Given the description of an element on the screen output the (x, y) to click on. 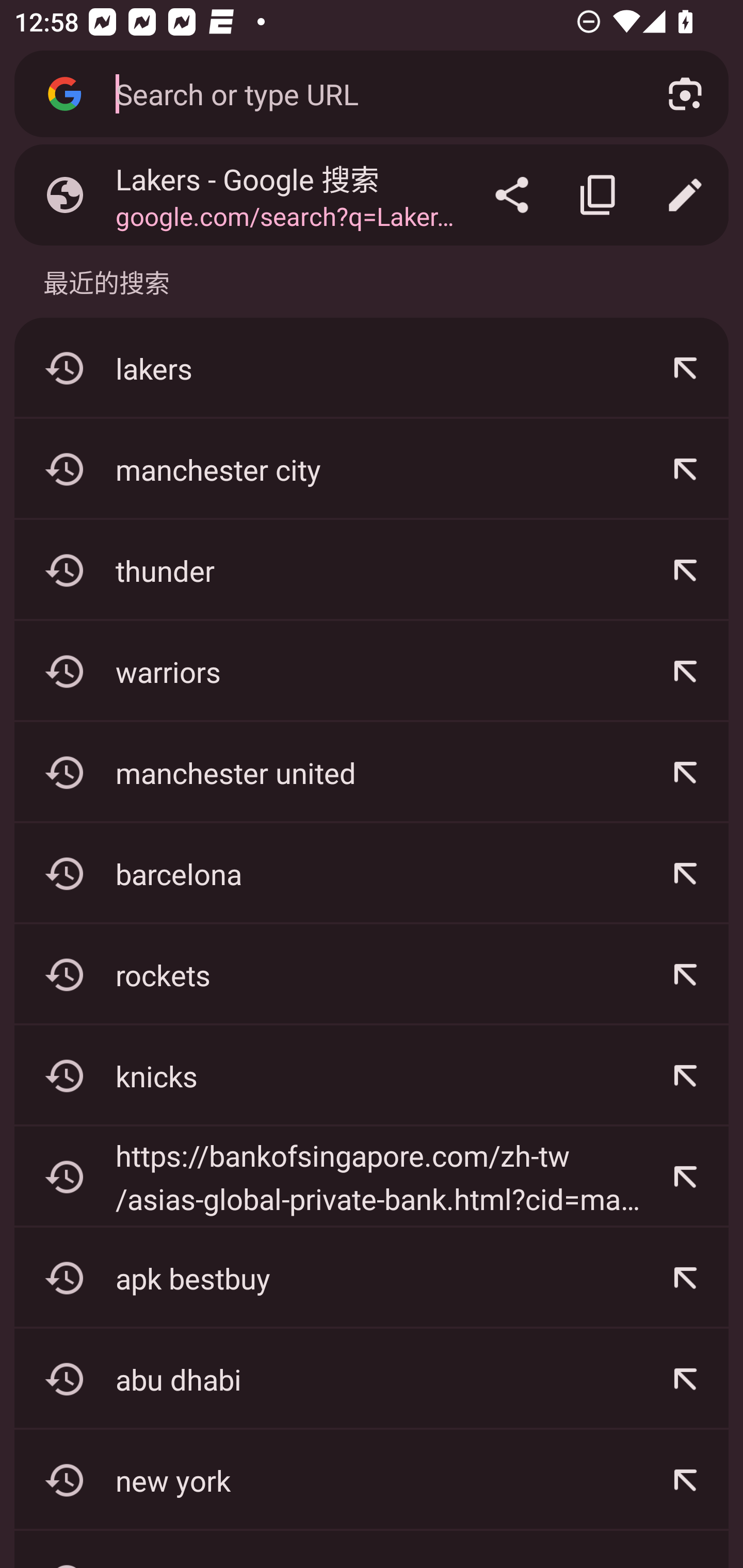
Search with your camera using Google Lens (684, 93)
Search or type URL (367, 92)
Share… (511, 195)
Copy link (598, 195)
Edit (684, 195)
lakers Refine: lakers (371, 368)
Refine: lakers (684, 368)
manchester city Refine: manchester city (371, 469)
Refine: manchester city (684, 469)
thunder Refine: thunder (371, 570)
Refine: thunder (684, 570)
warriors Refine: warriors (371, 671)
Refine: warriors (684, 671)
manchester united Refine: manchester united (371, 772)
Refine: manchester united (684, 772)
barcelona Refine: barcelona (371, 873)
Refine: barcelona (684, 873)
rockets Refine: rockets (371, 974)
Refine: rockets (684, 974)
knicks Refine: knicks (371, 1075)
Refine: knicks (684, 1075)
apk bestbuy Refine: apk bestbuy (371, 1277)
Refine: apk bestbuy (684, 1277)
abu dhabi Refine: abu dhabi (371, 1379)
Refine: abu dhabi (684, 1379)
new york Refine: new york (371, 1480)
Refine: new york (684, 1480)
